Given the description of an element on the screen output the (x, y) to click on. 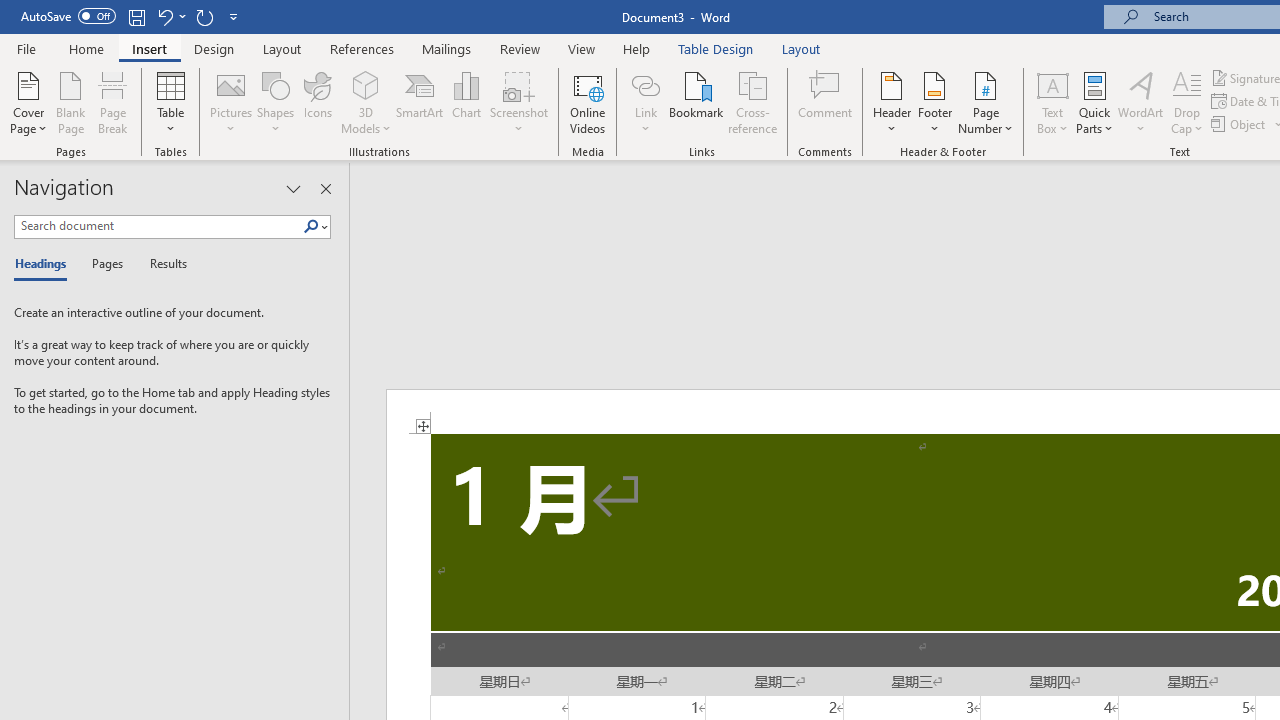
Comment (825, 102)
Table (170, 102)
Screenshot (518, 102)
Chart... (466, 102)
Icons (317, 102)
